Given the description of an element on the screen output the (x, y) to click on. 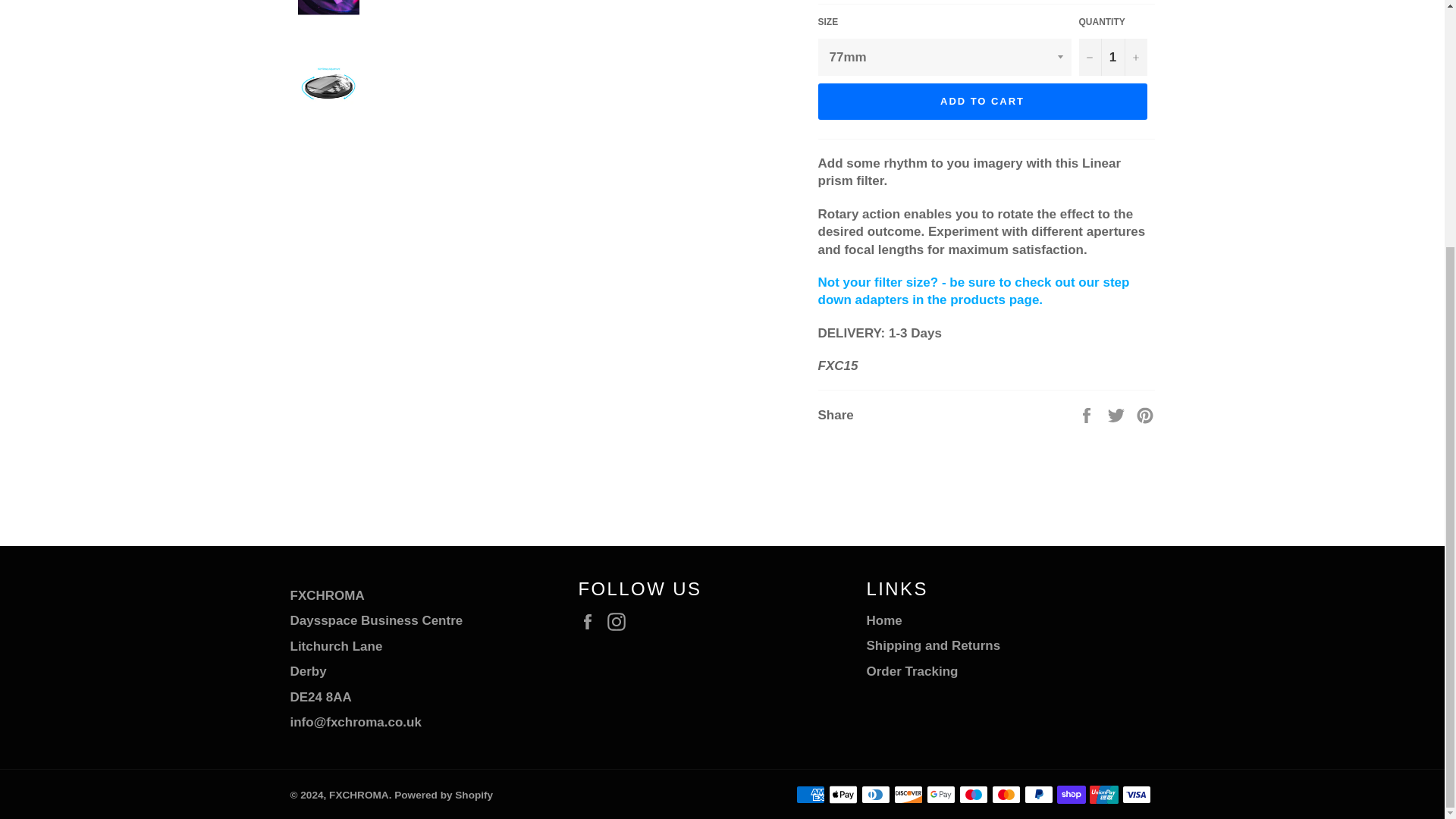
FXCHROMA on Instagram (620, 620)
Pin on Pinterest (1144, 414)
Tweet on Twitter (1117, 414)
Share on Facebook (1088, 414)
Facebook (591, 620)
Pin on Pinterest (1144, 414)
ADD TO CART (981, 101)
Instagram (620, 620)
Home (883, 620)
Tweet on Twitter (1117, 414)
Shipping and Returns (933, 645)
1 (1112, 57)
FXCHROMA on Facebook (591, 620)
Share on Facebook (1088, 414)
Order Tracking (912, 671)
